Given the description of an element on the screen output the (x, y) to click on. 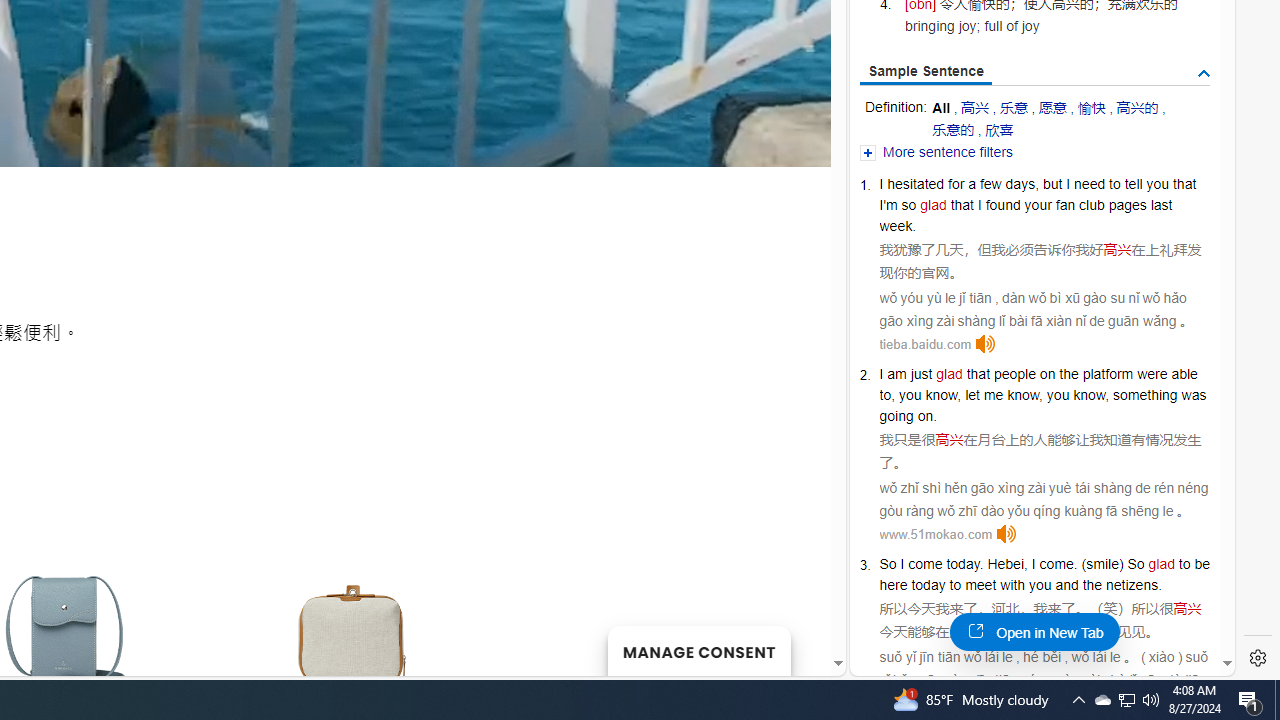
able (1184, 373)
the (1092, 584)
tell (1133, 183)
days (1019, 183)
need (1089, 183)
AutomationID: tgdef_sen (1203, 73)
week (895, 226)
smile (1101, 563)
